Given the description of an element on the screen output the (x, y) to click on. 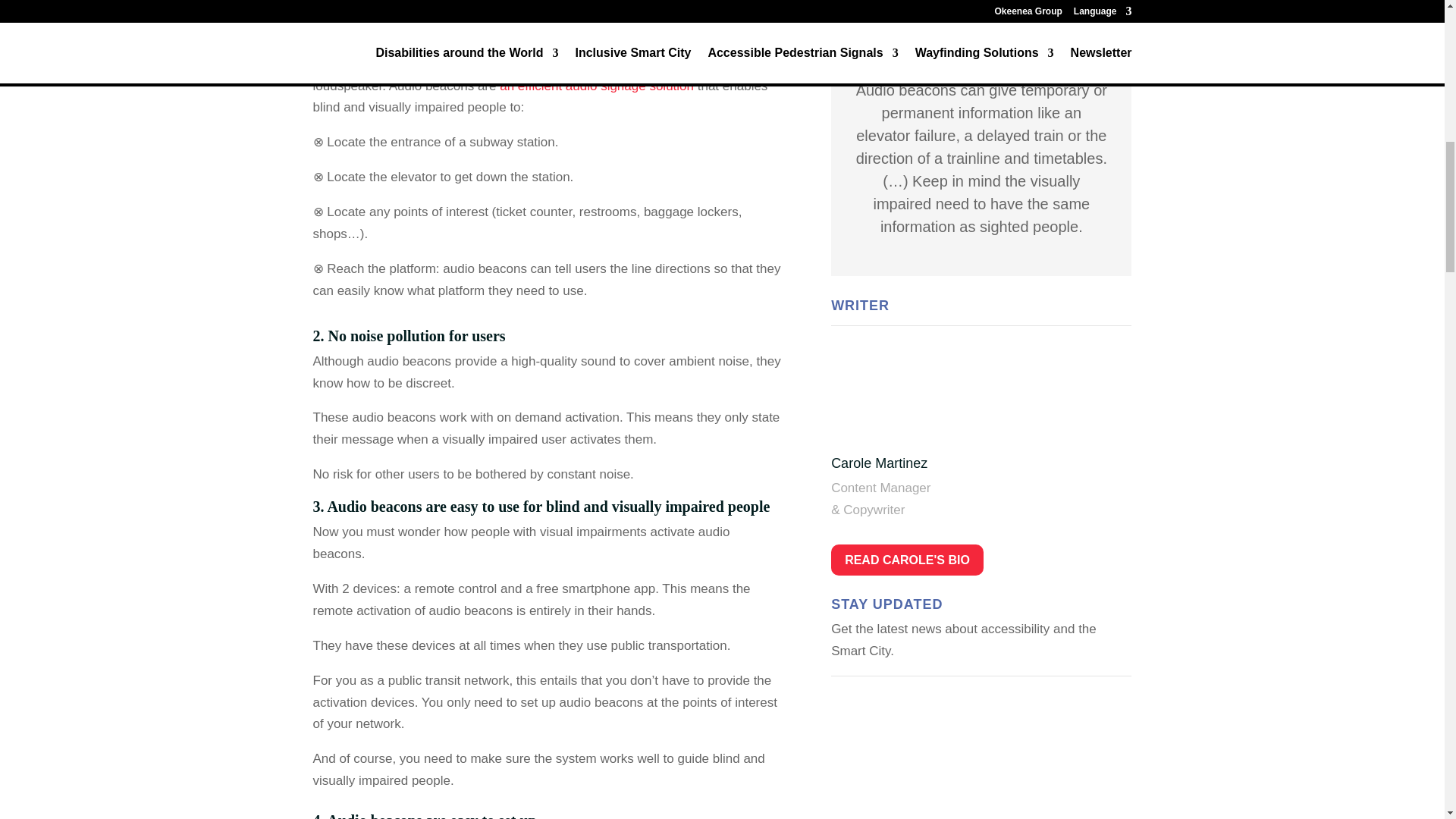
audio-beacon-okeenea (981, 16)
an efficient audio signage solution (596, 85)
READ CAROLE'S BIO (907, 559)
